Given the description of an element on the screen output the (x, y) to click on. 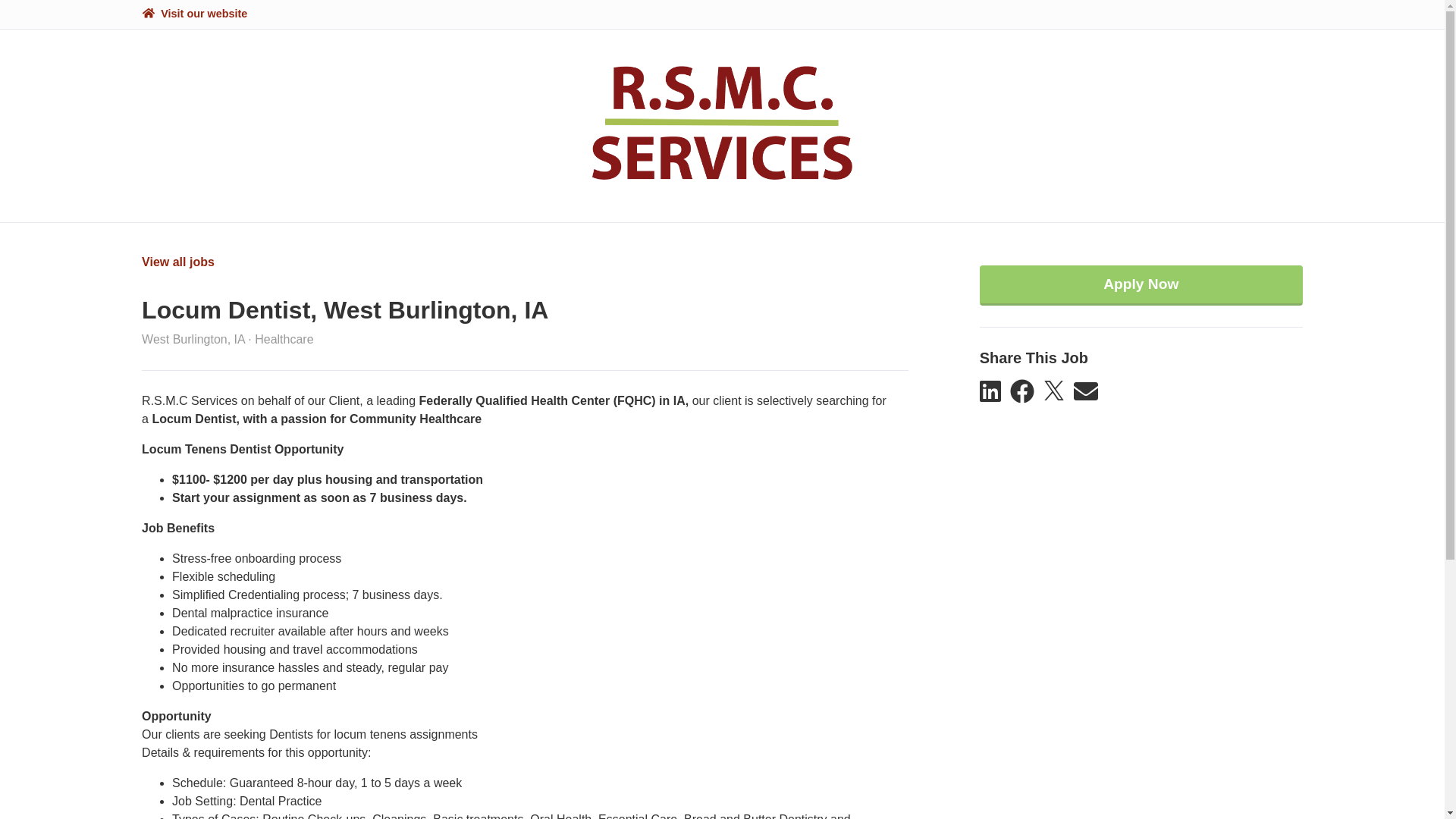
Apply Now (1141, 285)
Visit our website (194, 13)
View all jobs (177, 262)
